Given the description of an element on the screen output the (x, y) to click on. 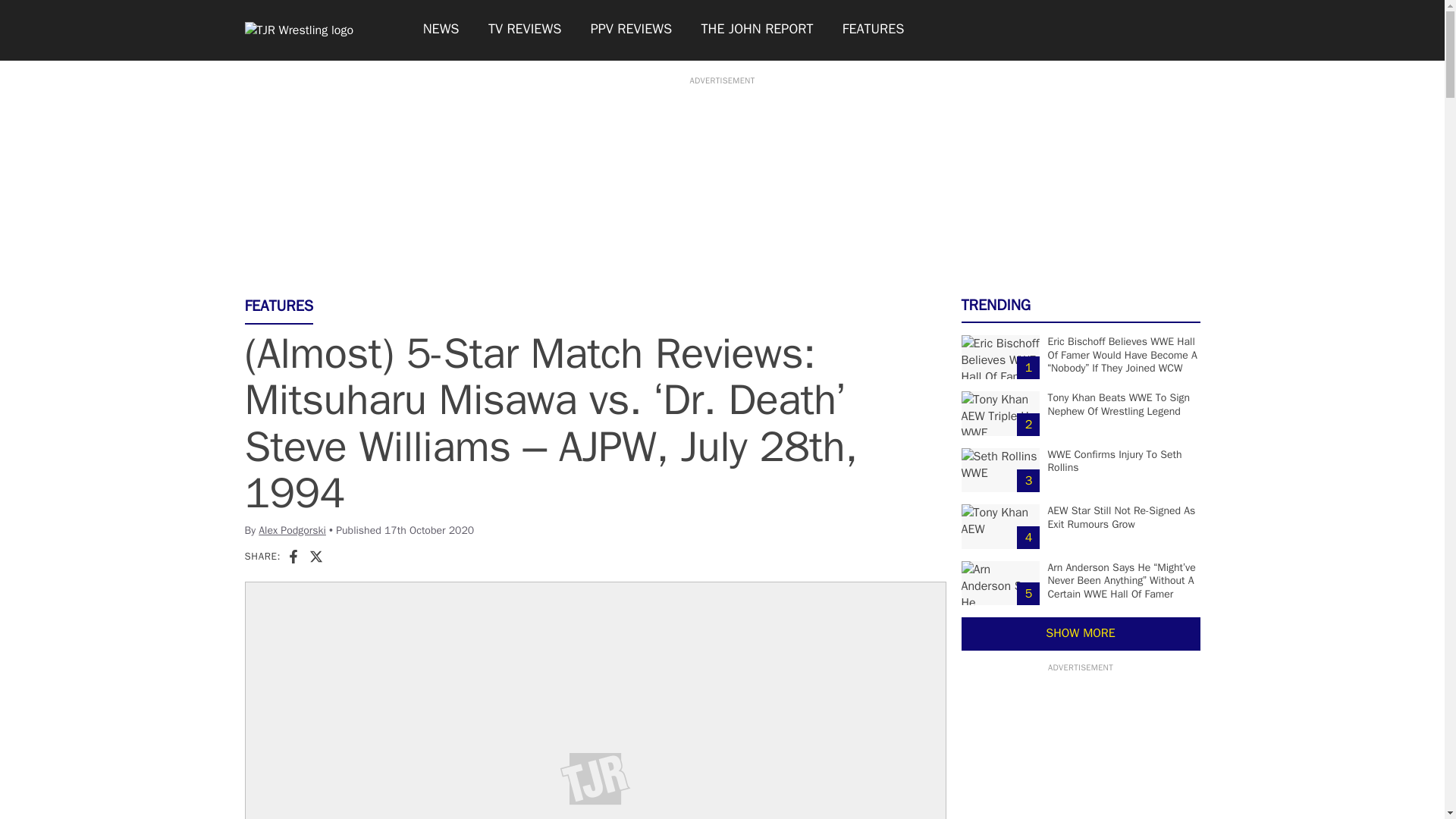
X (315, 555)
FEATURES (873, 30)
PPV REVIEWS (631, 30)
TV REVIEWS (525, 30)
NEWS (440, 30)
Alex Podgorski (292, 530)
THE JOHN REPORT (756, 30)
Facebook (292, 555)
X (315, 556)
Facebook (292, 556)
